Given the description of an element on the screen output the (x, y) to click on. 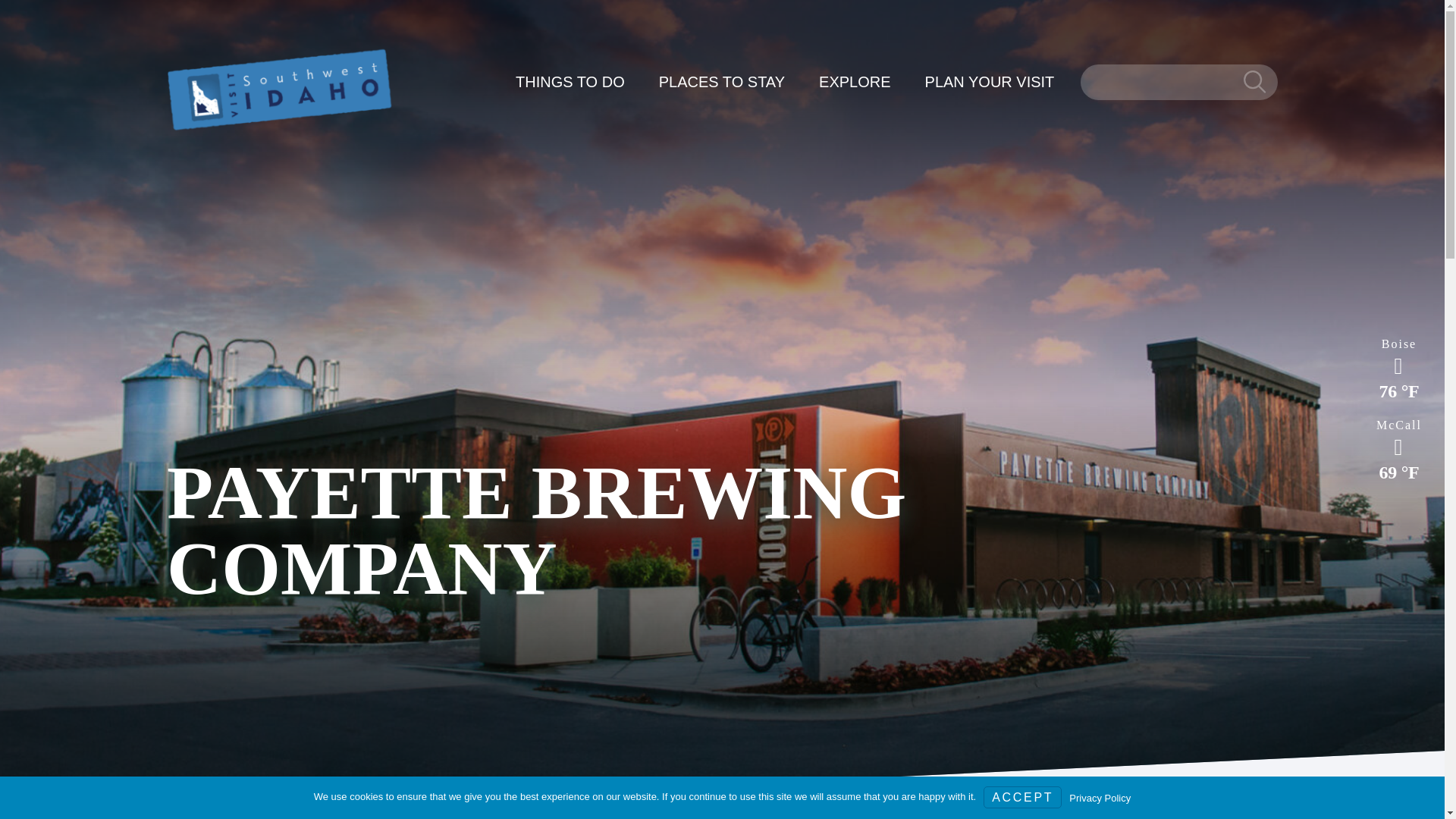
EXPLORE (853, 81)
THINGS TO DO (569, 81)
PLACES TO STAY (721, 81)
